Given the description of an element on the screen output the (x, y) to click on. 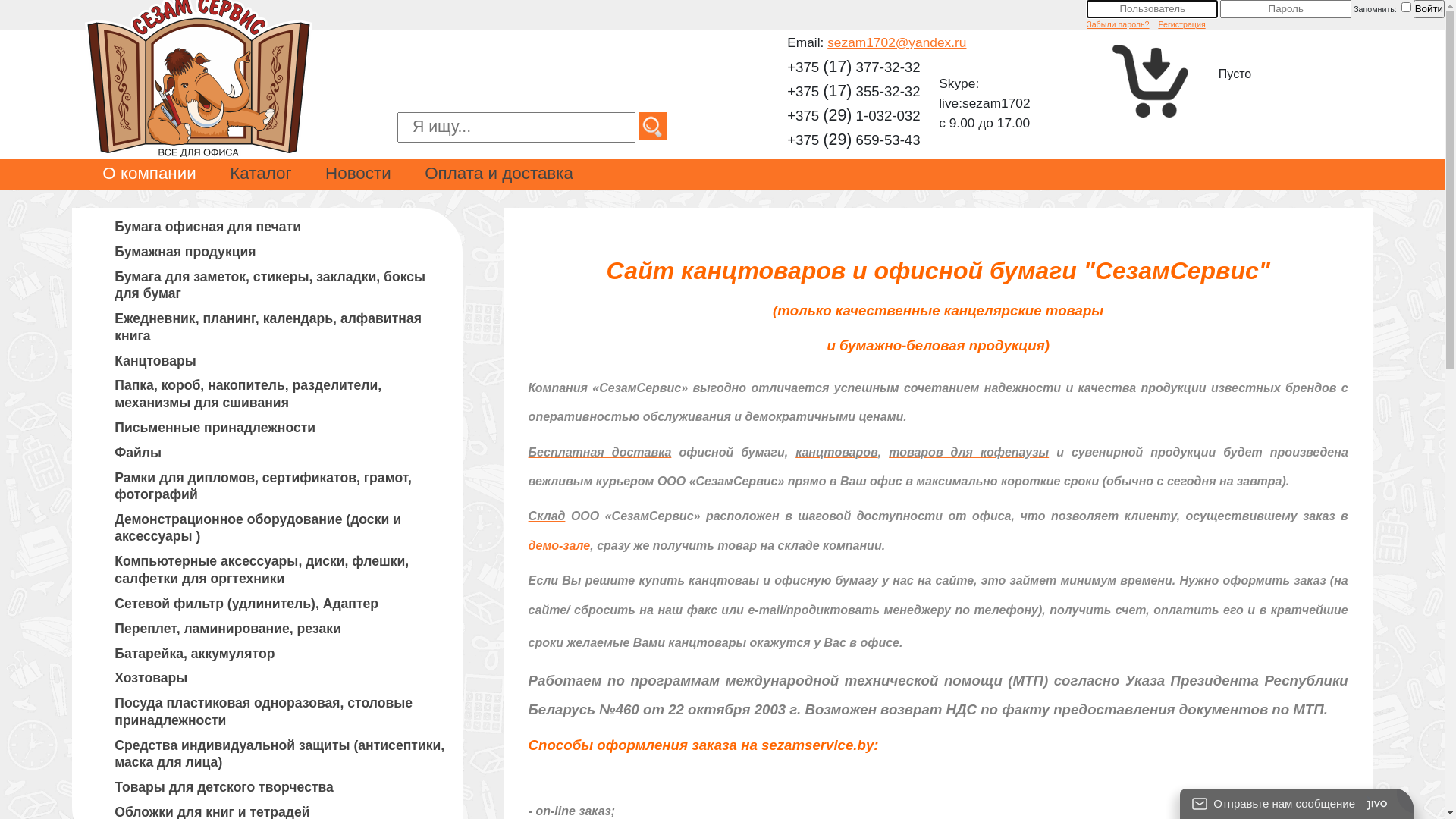
sezam1702@yandex.ru Element type: text (896, 42)
